Given the description of an element on the screen output the (x, y) to click on. 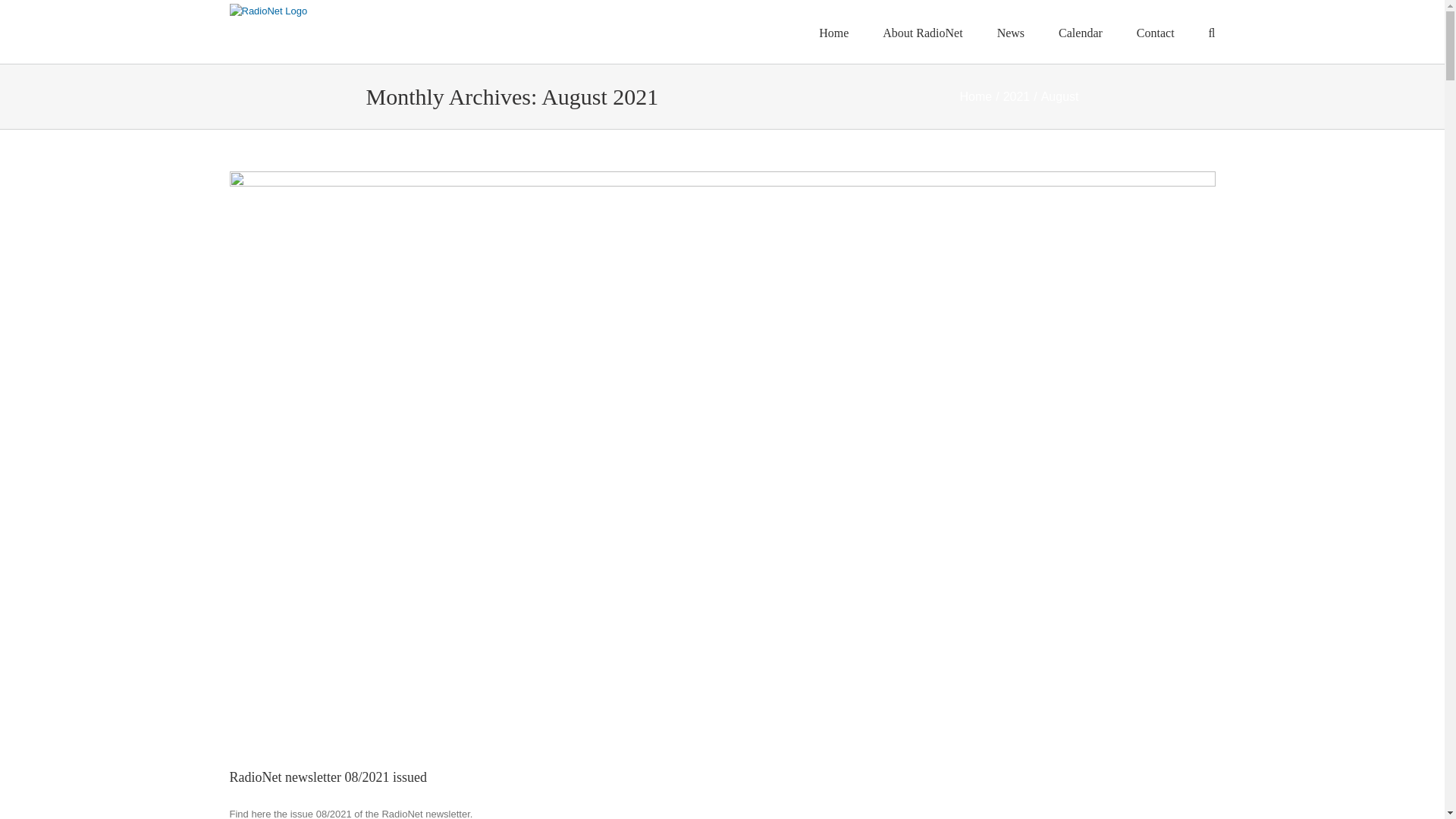
About RadioNet (922, 31)
